Given the description of an element on the screen output the (x, y) to click on. 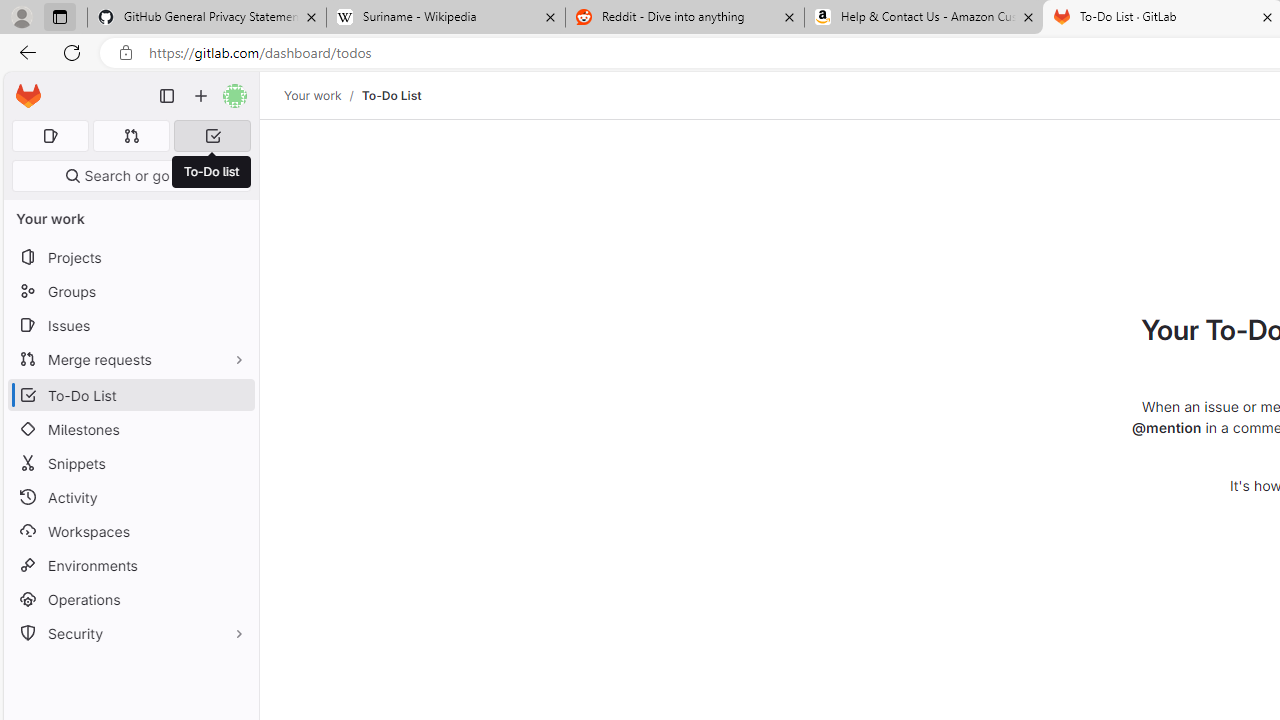
Your work/ (323, 95)
To-Do list (211, 171)
Create new... (201, 96)
Milestones (130, 429)
Environments (130, 564)
Merge requests (130, 358)
Projects (130, 257)
Activity (130, 497)
Suriname - Wikipedia (445, 17)
To-Do List (391, 95)
